Given the description of an element on the screen output the (x, y) to click on. 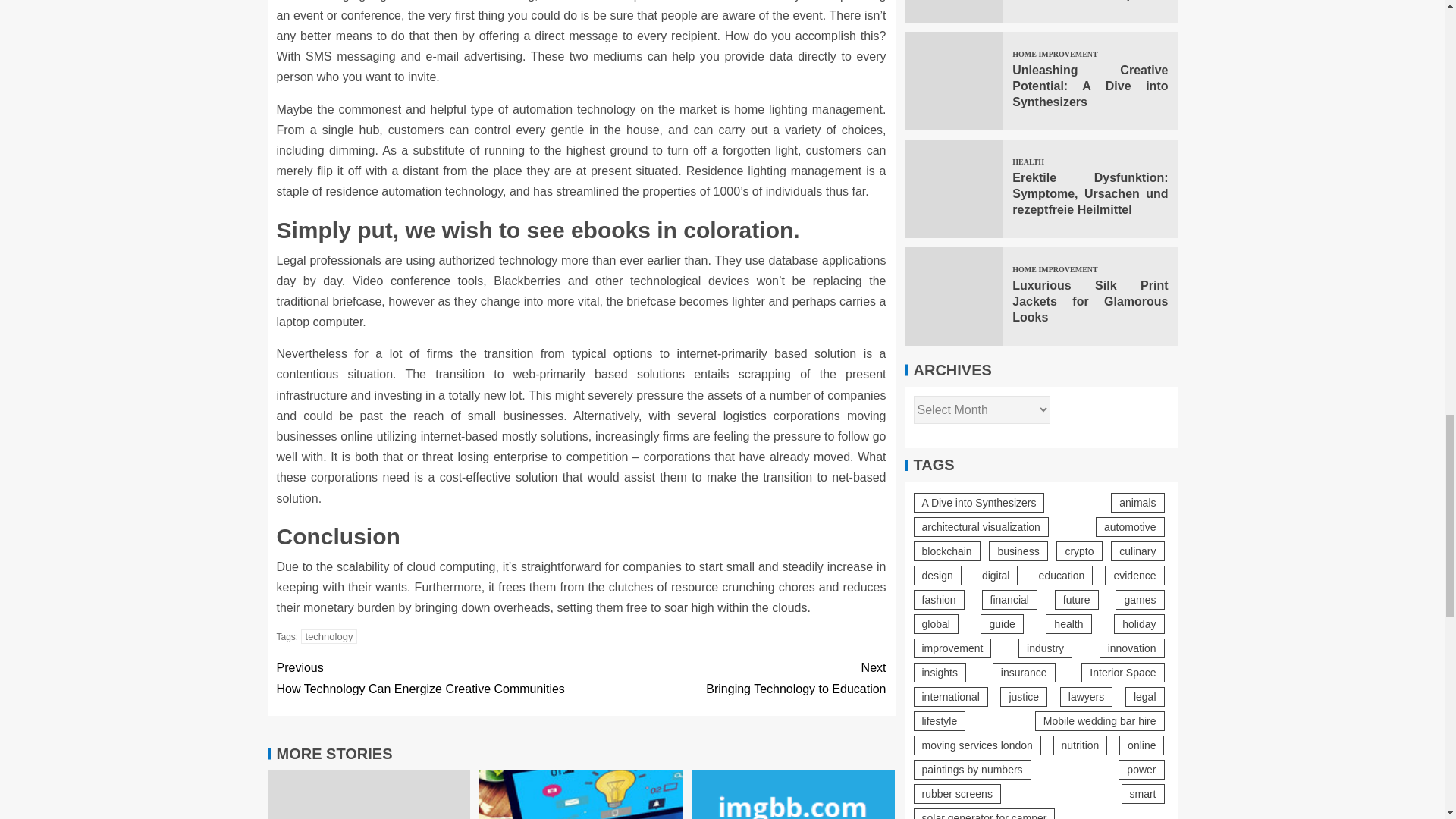
technology (329, 636)
Future Young Generation Technology Pictures (580, 794)
Trying To Understand Latest Technology (793, 794)
